Given the description of an element on the screen output the (x, y) to click on. 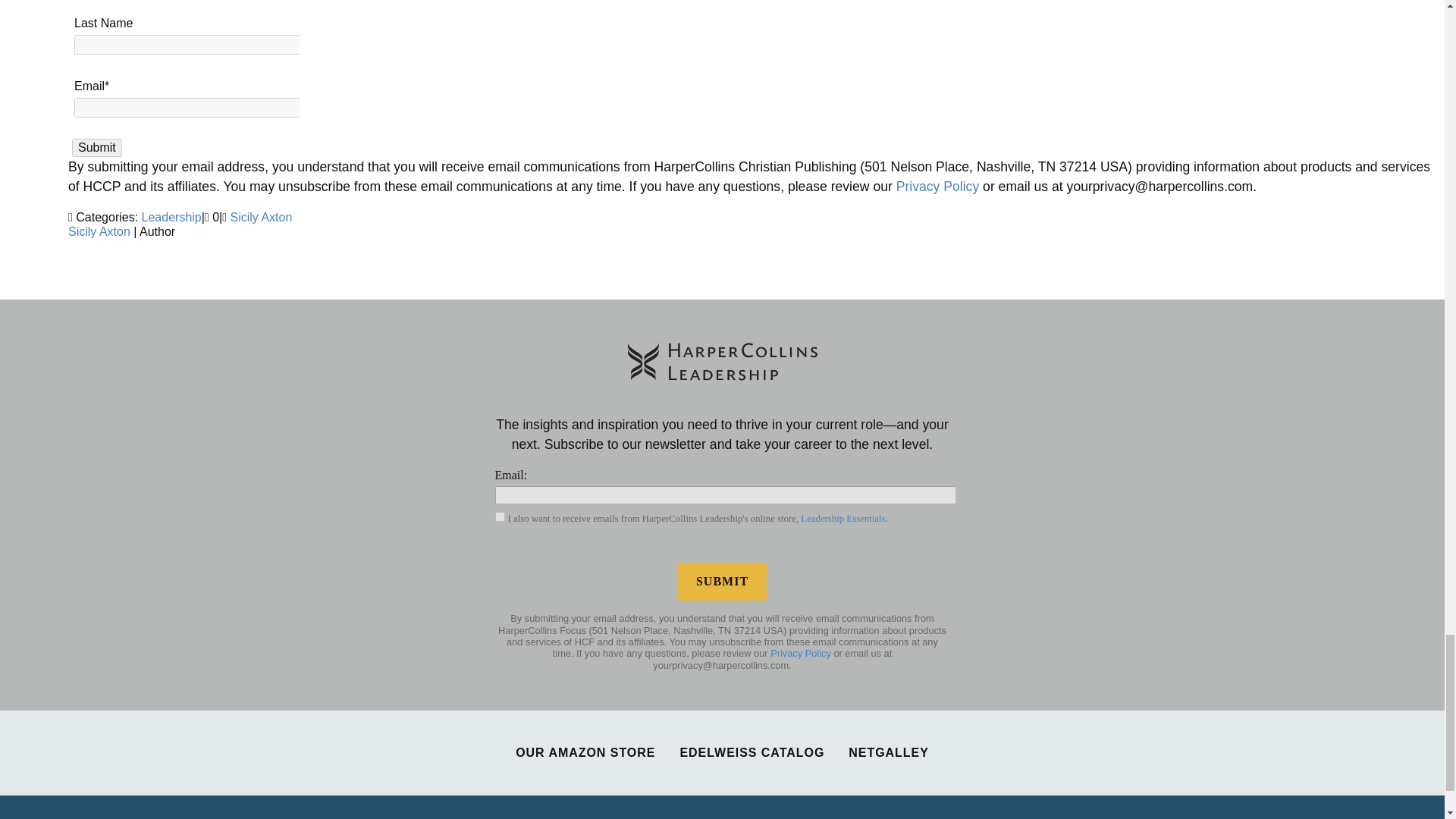
Yes (499, 516)
Submit (96, 147)
Submit (722, 581)
